Given the description of an element on the screen output the (x, y) to click on. 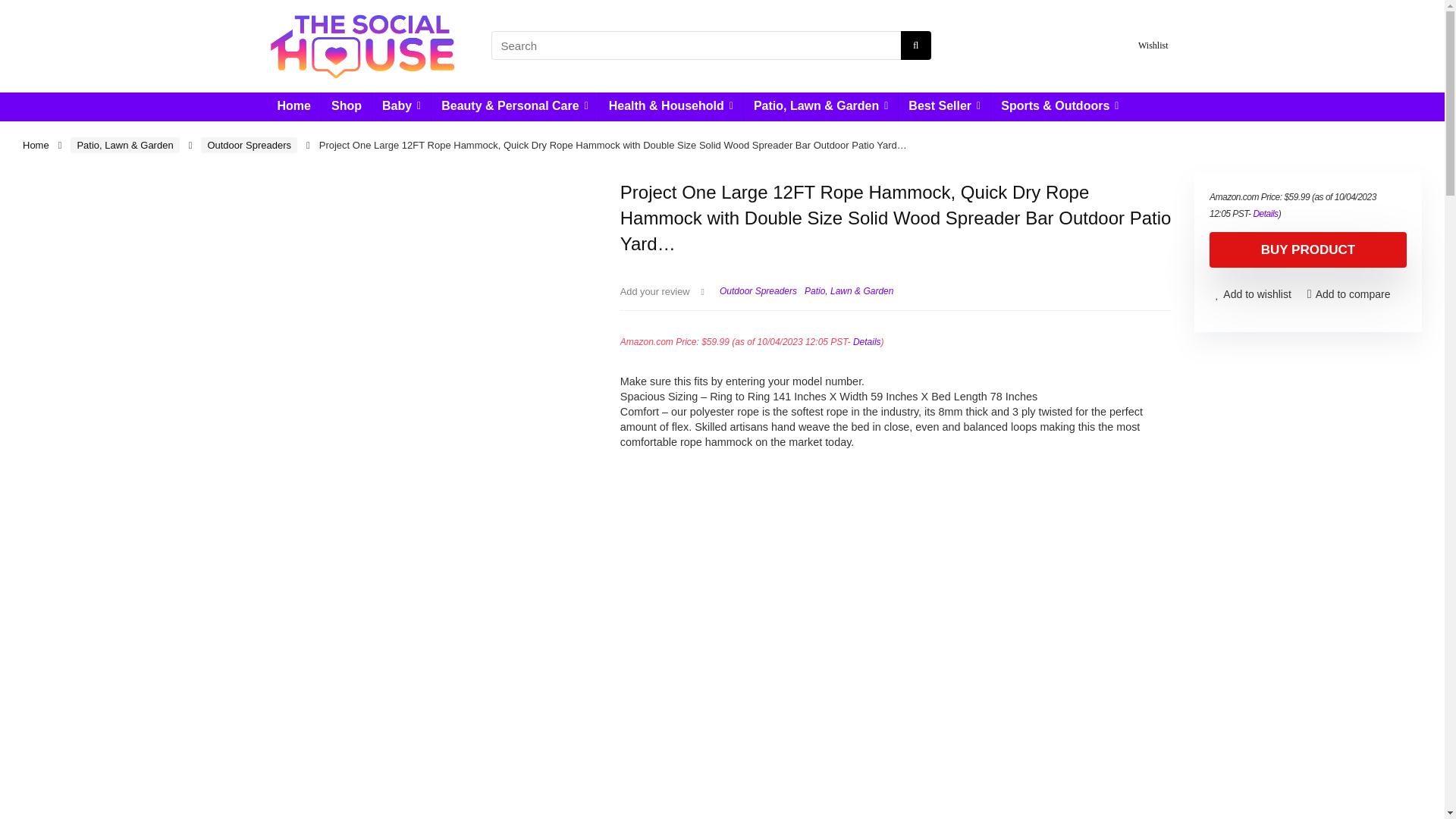
View all posts in Outdoor Spreaders (757, 290)
Home (293, 106)
Baby (401, 106)
Add your review (655, 291)
Best Seller (944, 106)
Shop (346, 106)
